Given the description of an element on the screen output the (x, y) to click on. 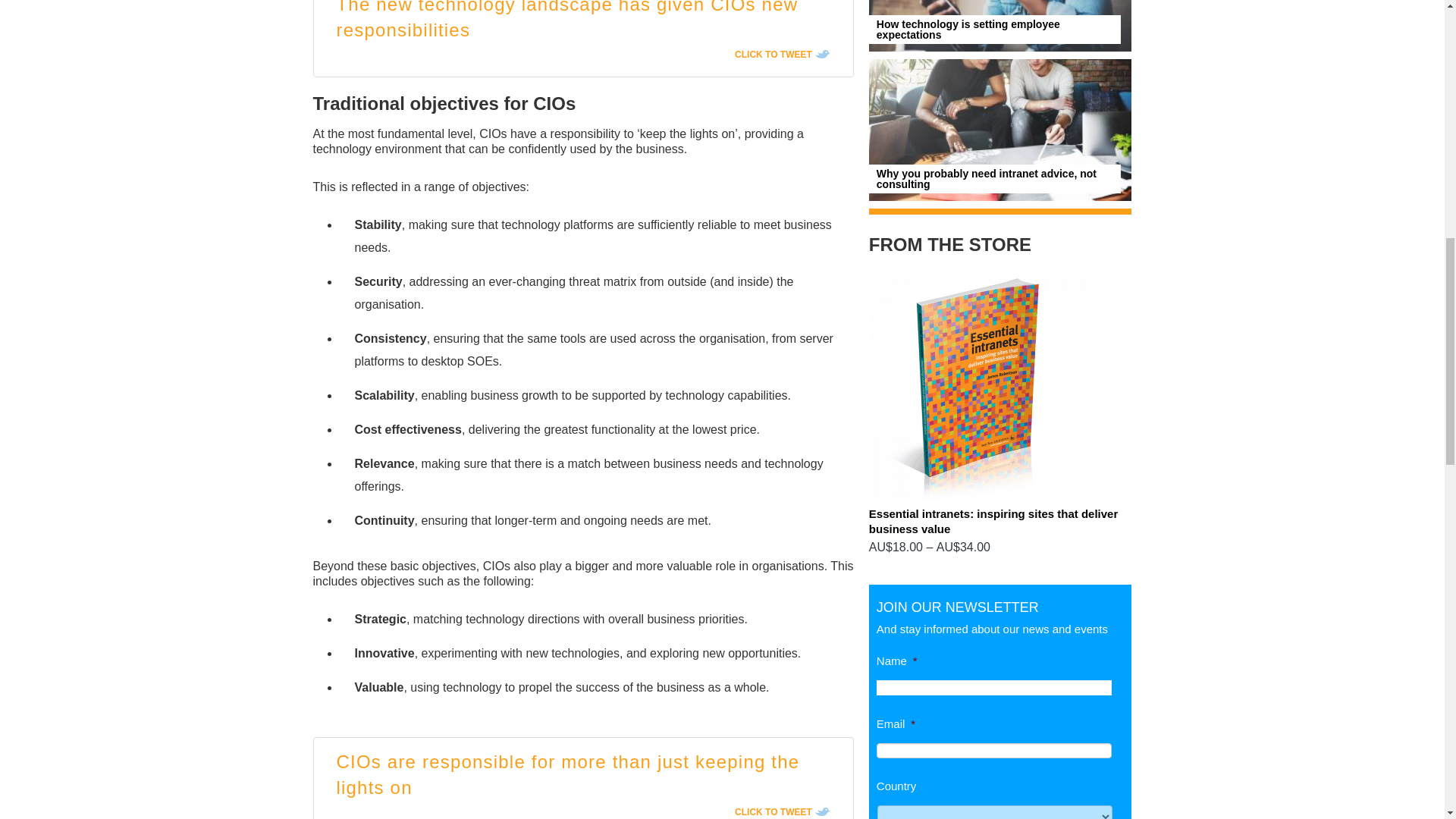
How technology is setting employee expectations (967, 29)
CLICK TO TWEET (782, 811)
CLICK TO TWEET (782, 53)
